Given the description of an element on the screen output the (x, y) to click on. 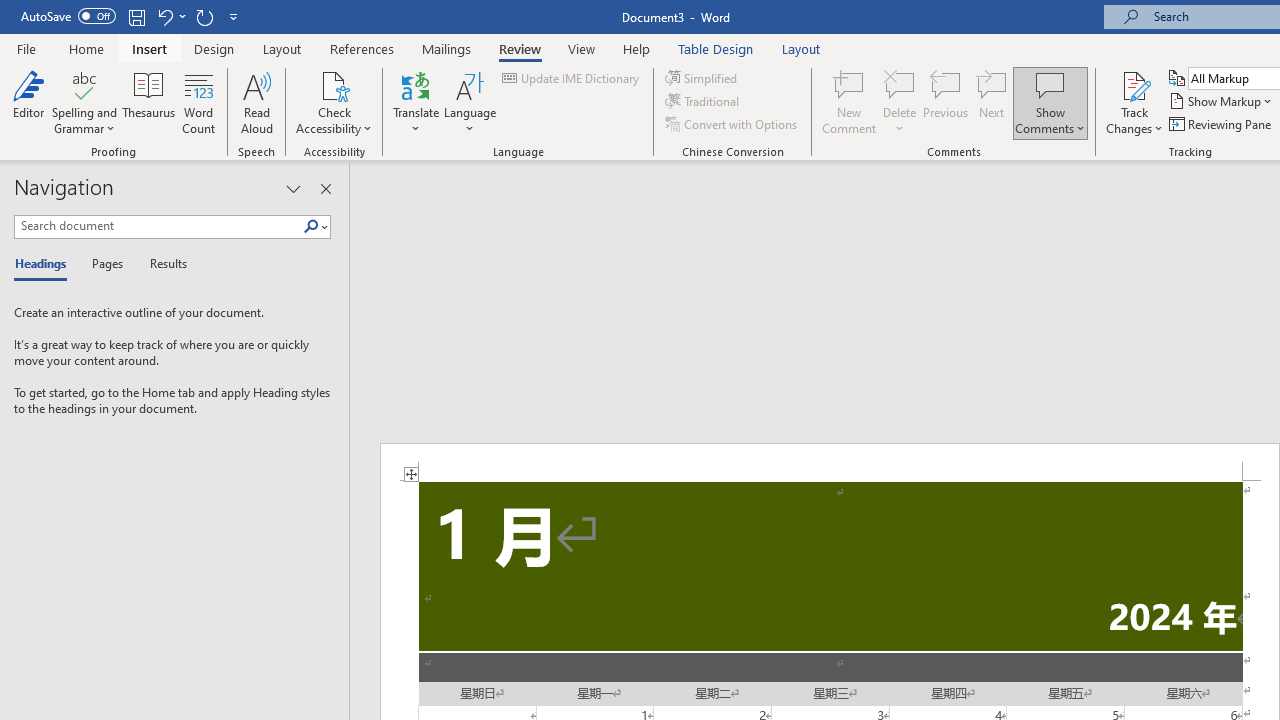
Simplified (702, 78)
Next (991, 102)
Update IME Dictionary... (572, 78)
Show Comments (1050, 102)
New Comment (849, 102)
